Given the description of an element on the screen output the (x, y) to click on. 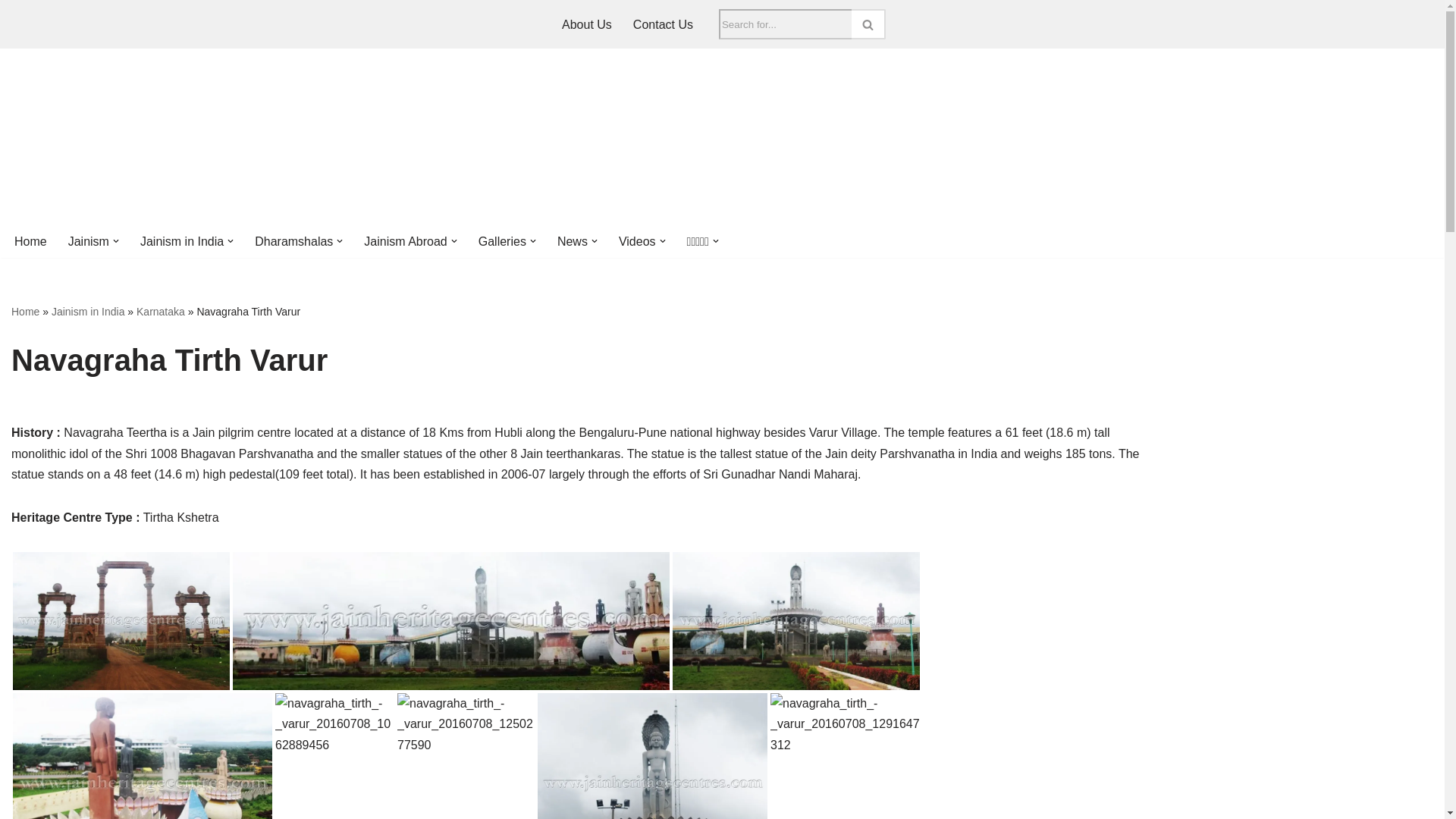
Contact Us (663, 24)
Jainism in India (181, 240)
About Us (586, 24)
Skip to content (11, 31)
Navagraha Tirth Varur (652, 755)
Jainism (88, 240)
Home (30, 240)
